Given the description of an element on the screen output the (x, y) to click on. 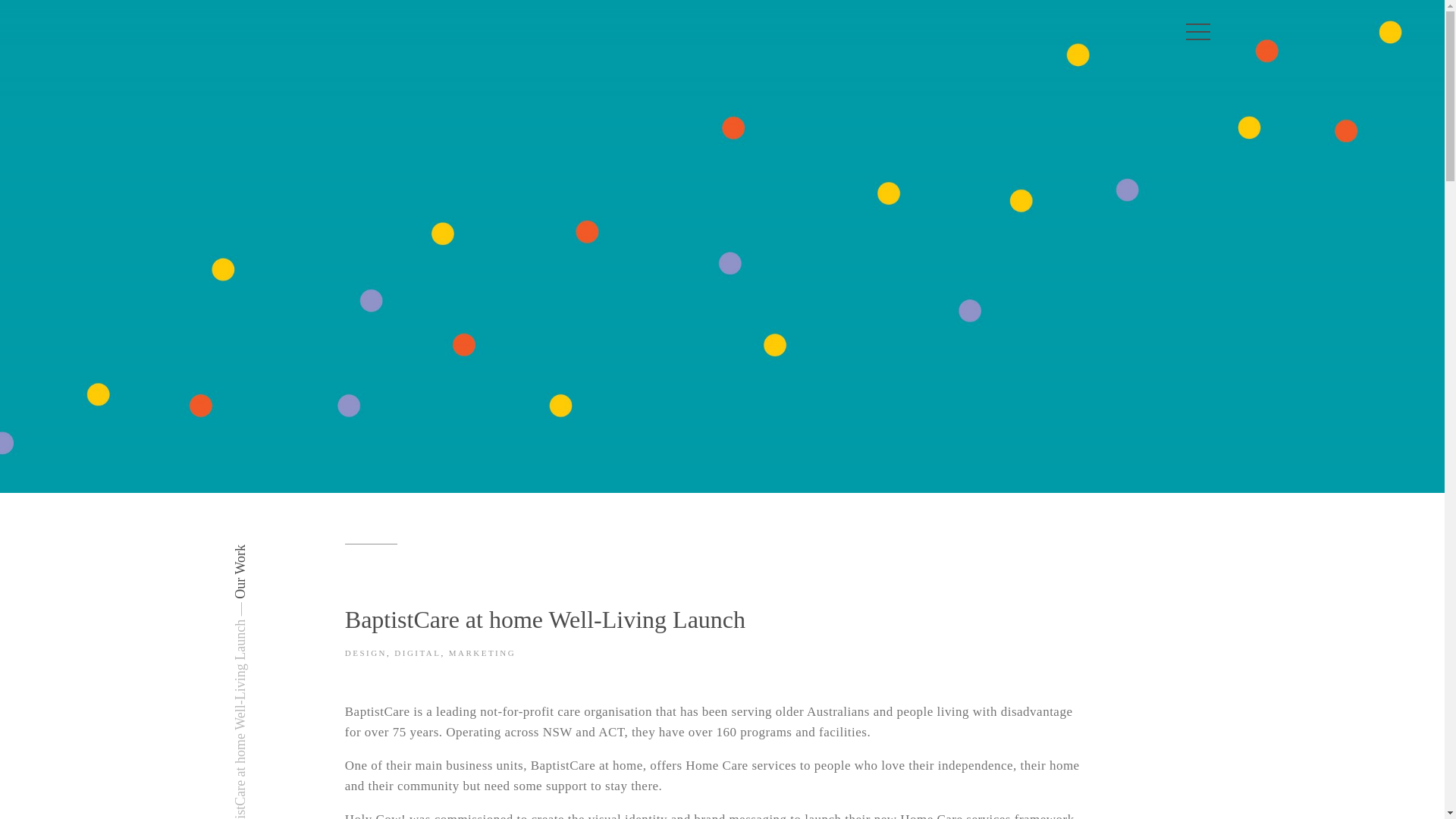
moo@holycow.com.au Element type: text (791, 662)
MARKETING Element type: text (481, 652)
DESIGN Element type: text (365, 652)
Privacy Policy Element type: text (277, 705)
DIGITAL Element type: text (417, 652)
Subscribe to our blog Element type: text (318, 780)
Become a client Element type: text (544, 780)
Our Work Element type: text (259, 551)
+61 2 9212 4676 Element type: text (776, 683)
